Given the description of an element on the screen output the (x, y) to click on. 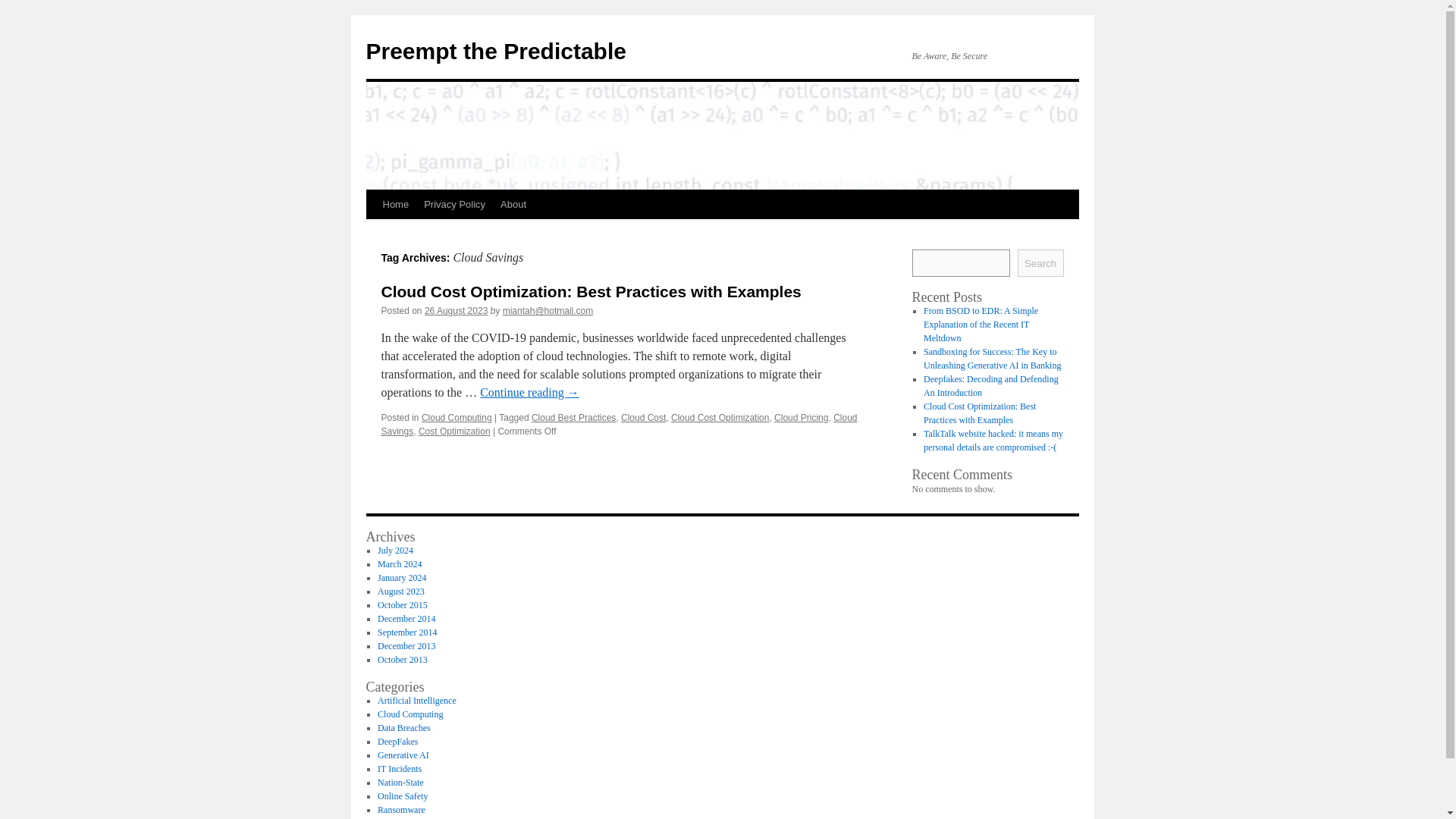
July 2024 (395, 550)
Home (395, 204)
Online Safety (402, 796)
Cost Optimization (454, 430)
09:46 (456, 310)
Preempt the Predictable (495, 50)
Cloud Best Practices (573, 417)
December 2014 (406, 618)
January 2024 (401, 577)
Cloud Cost (643, 417)
Cloud Cost Optimization: Best Practices with Examples (590, 291)
Deepfakes: Decoding and Defending An Introduction (990, 385)
Cloud Computing (409, 714)
Cloud Savings (618, 424)
